Given the description of an element on the screen output the (x, y) to click on. 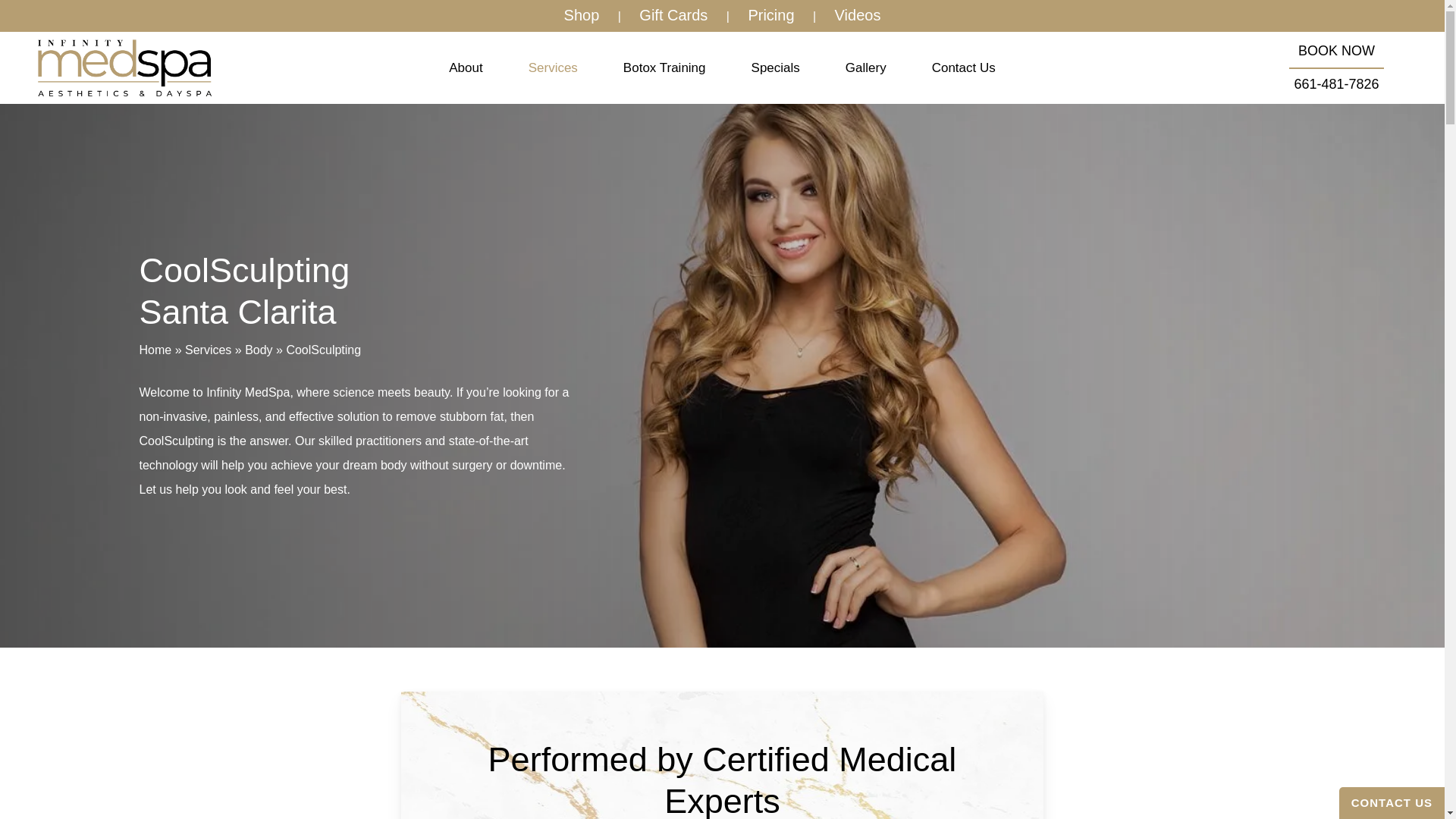
Pricing (770, 14)
Videos (857, 14)
Gift Cards (673, 14)
Services (552, 68)
About (465, 68)
Shop (581, 14)
